Given the description of an element on the screen output the (x, y) to click on. 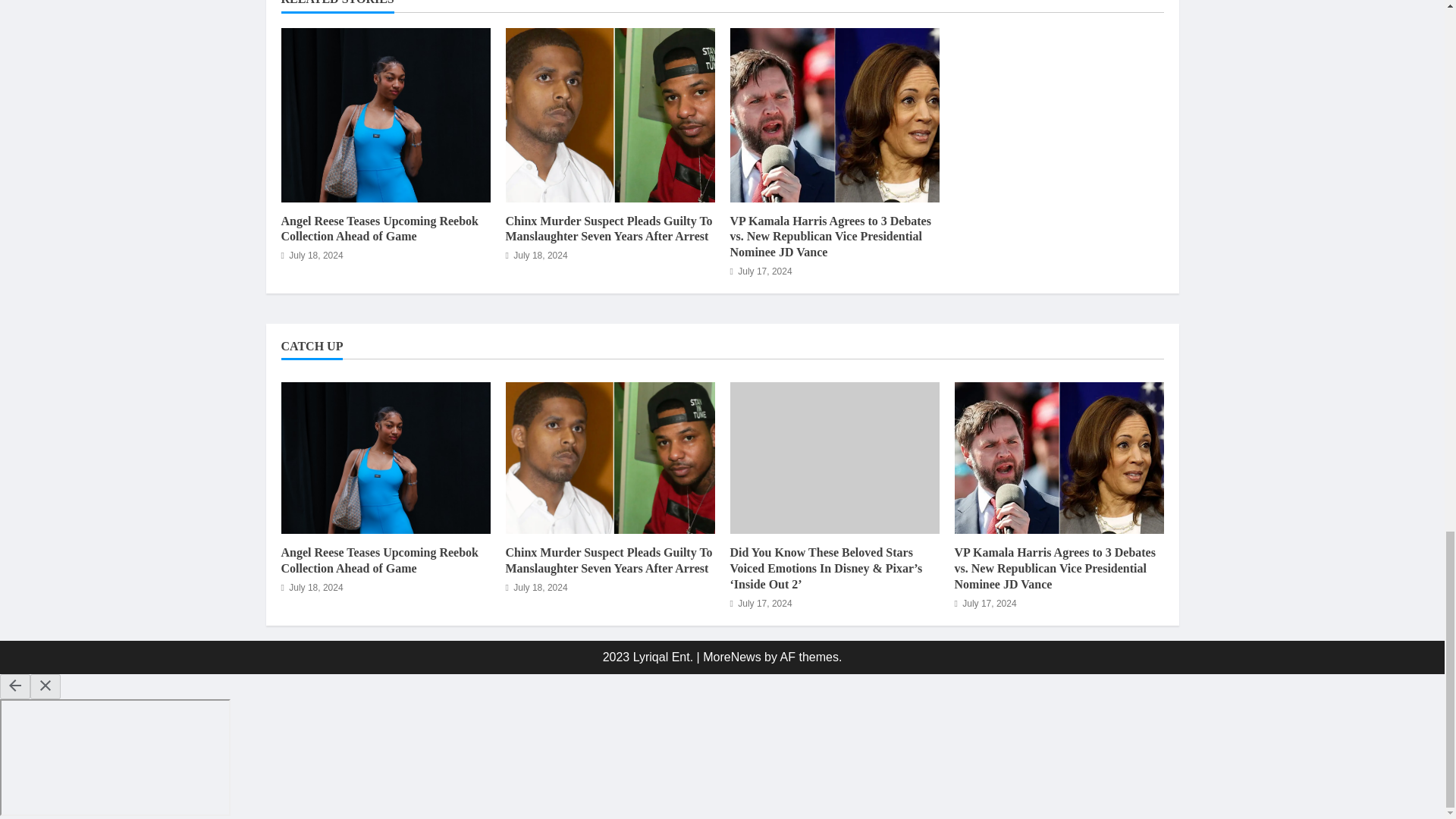
Angel Reese Teases Upcoming Reebok Collection Ahead of Game (379, 560)
Angel Reese Teases Upcoming Reebok Collection Ahead of Game (385, 457)
MoreNews (731, 656)
Angel Reese Teases Upcoming Reebok Collection Ahead of Game (379, 228)
